Given the description of an element on the screen output the (x, y) to click on. 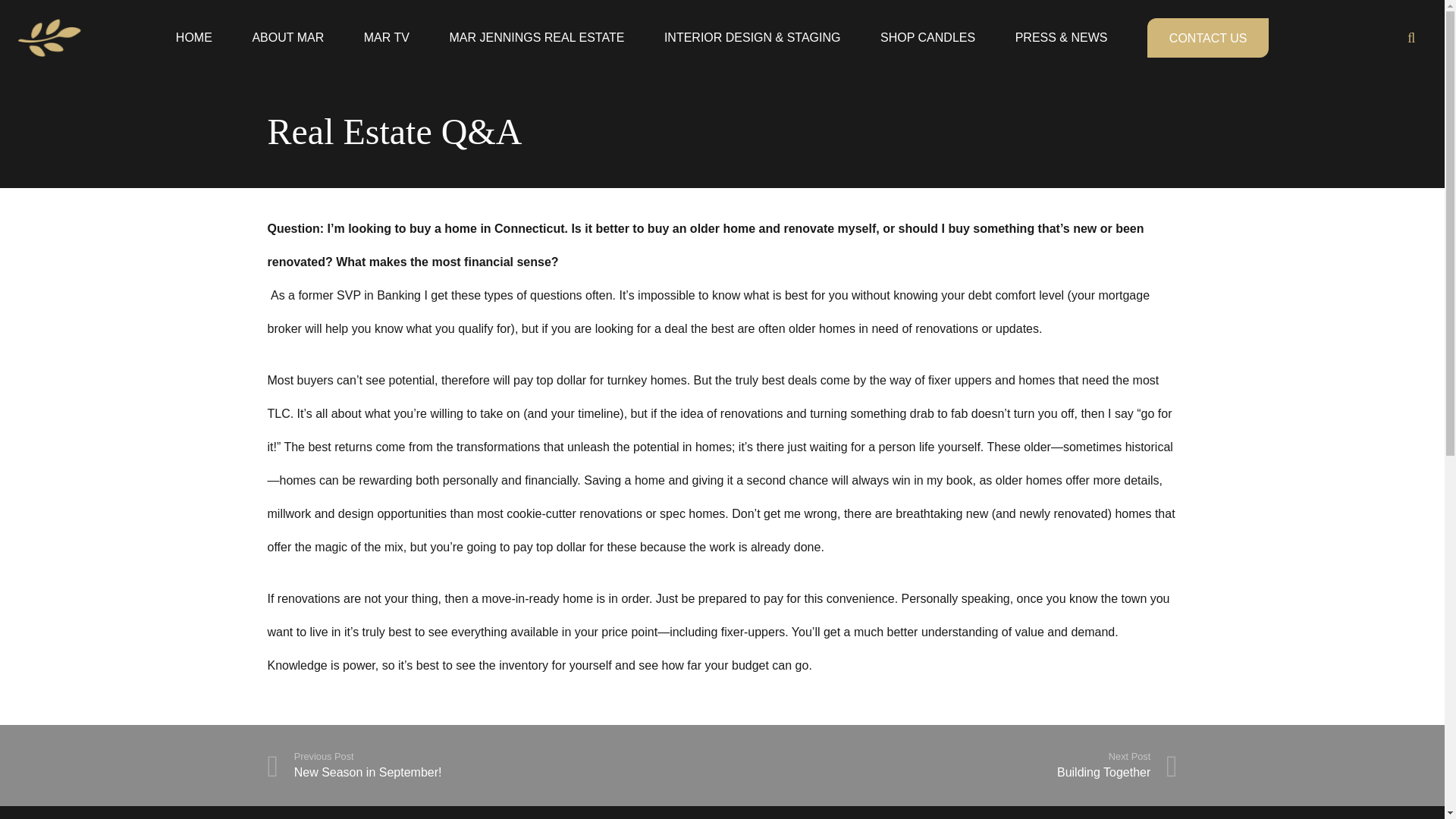
SHOP CANDLES (927, 30)
ABOUT MAR (287, 18)
CONTACT US (1207, 33)
MAR JENNINGS REAL ESTATE (494, 765)
HOME (536, 26)
MAR TV (193, 16)
New Season in September! (387, 22)
Building Together (949, 765)
